Given the description of an element on the screen output the (x, y) to click on. 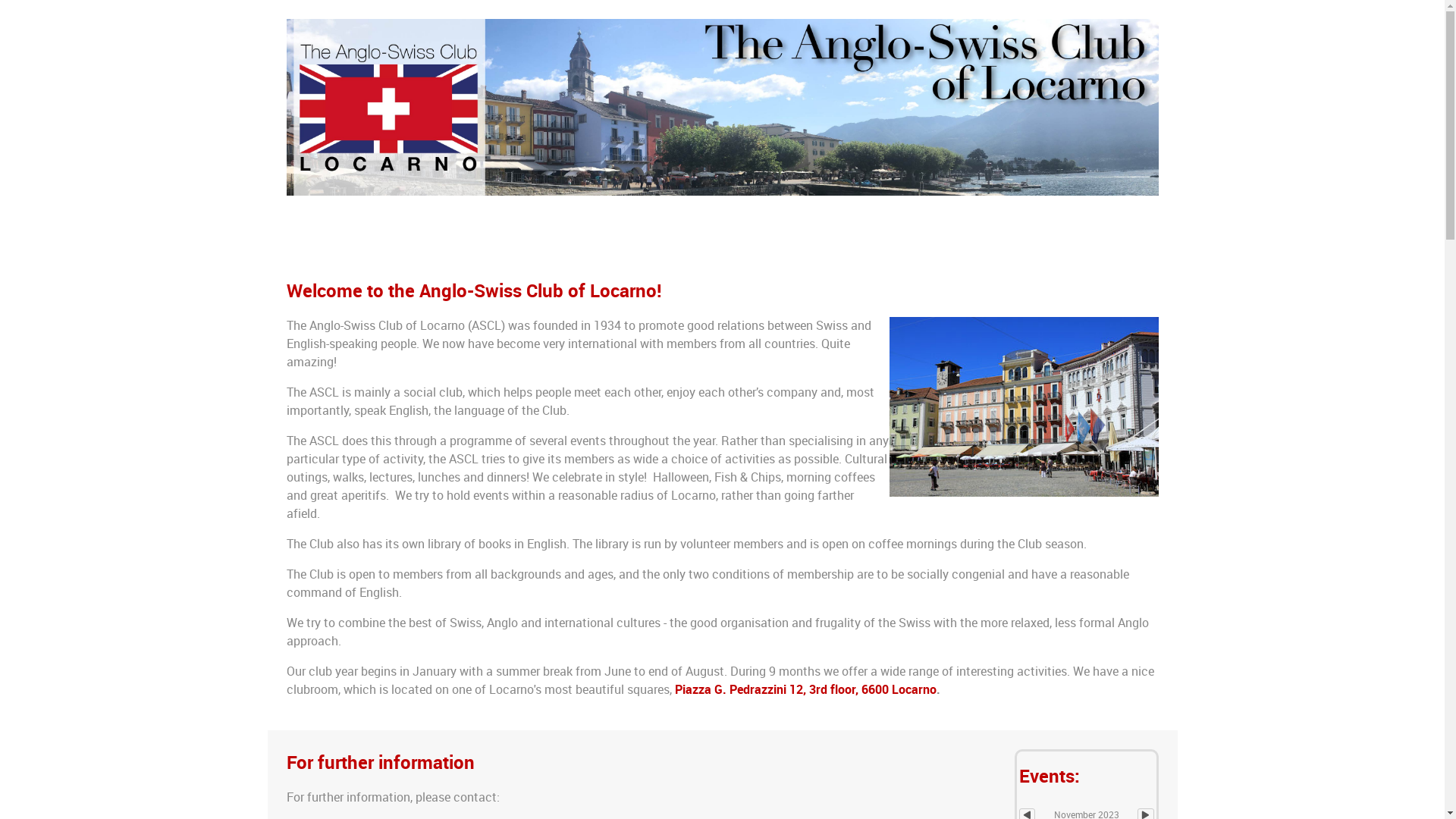
Piazza G. Pedrazzini 12, 3rd floor, 6600 Locarno Element type: text (805, 689)
Programme Element type: text (620, 240)
Home Element type: text (306, 240)
Contact us Element type: text (448, 240)
Walks & Outings Element type: text (528, 240)
Welcome to the Anglo-Swiss Club of Locarno! Element type: text (474, 290)
For further information Element type: text (380, 762)
English Movies Element type: text (371, 240)
